Given the description of an element on the screen output the (x, y) to click on. 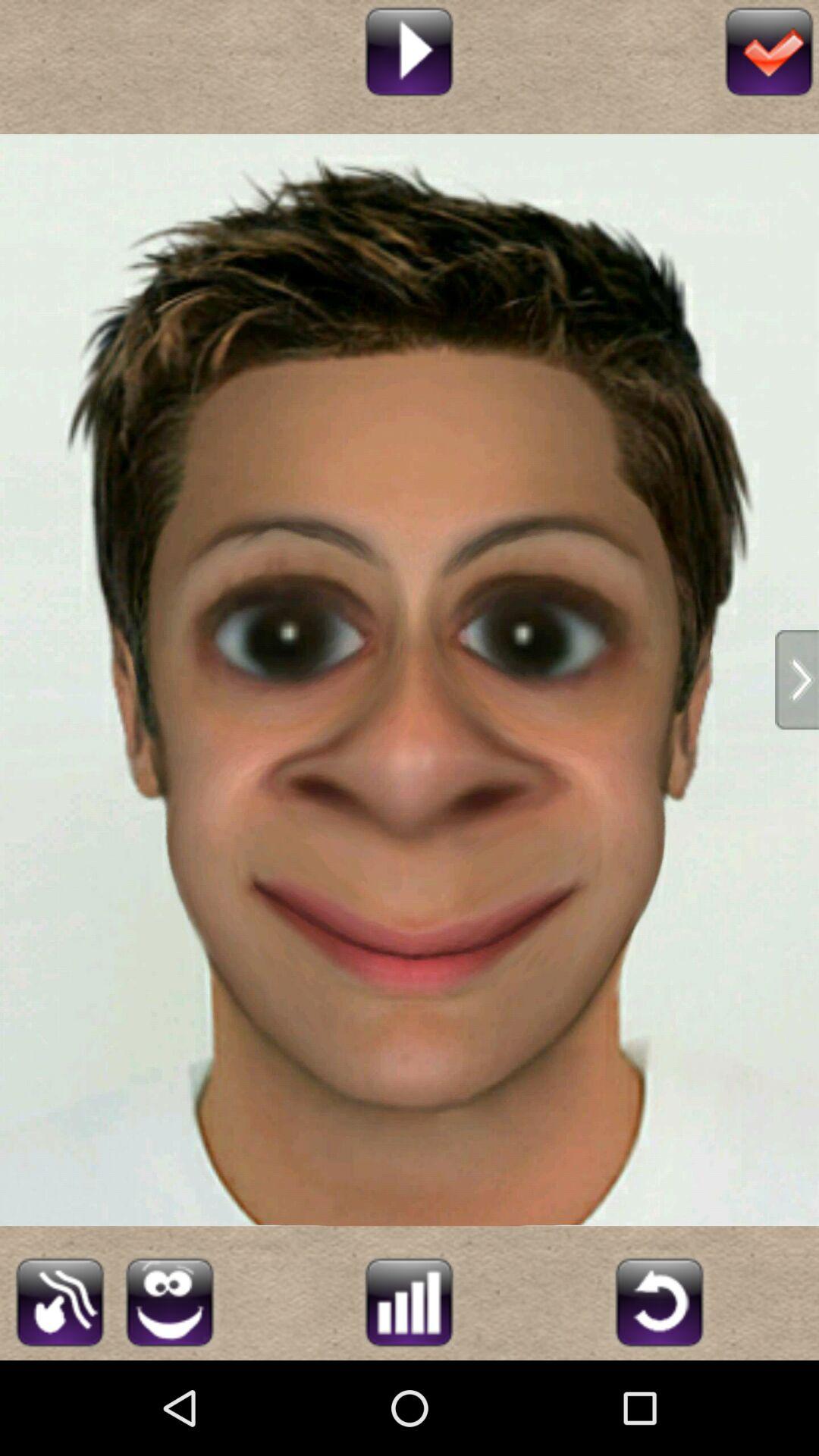
go to next (797, 679)
